Given the description of an element on the screen output the (x, y) to click on. 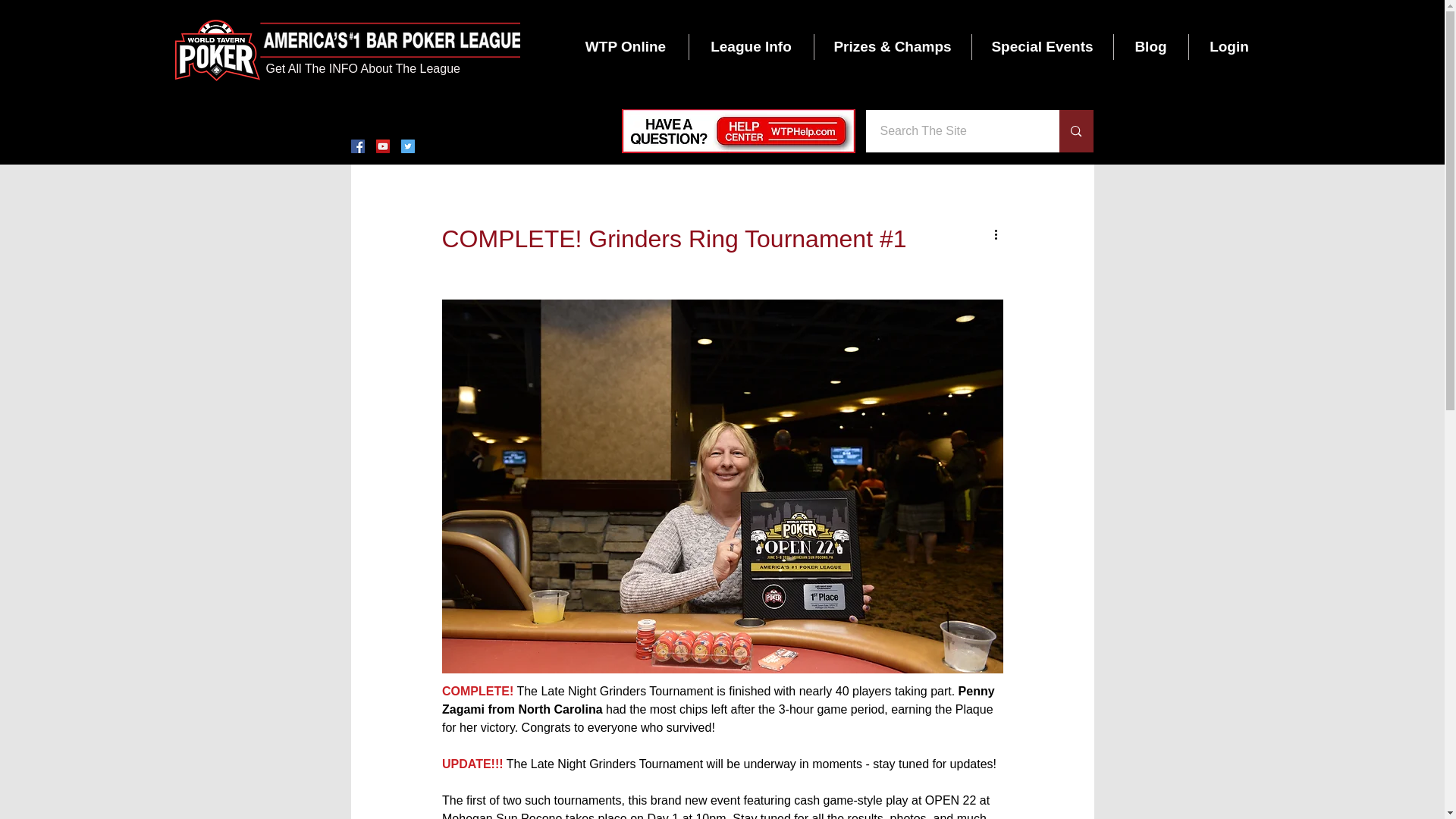
Login (1229, 46)
Blog (1150, 46)
League Info (750, 46)
Get All The INFO About The League (362, 68)
Special Events (1042, 46)
WTP Online (624, 46)
